Given the description of an element on the screen output the (x, y) to click on. 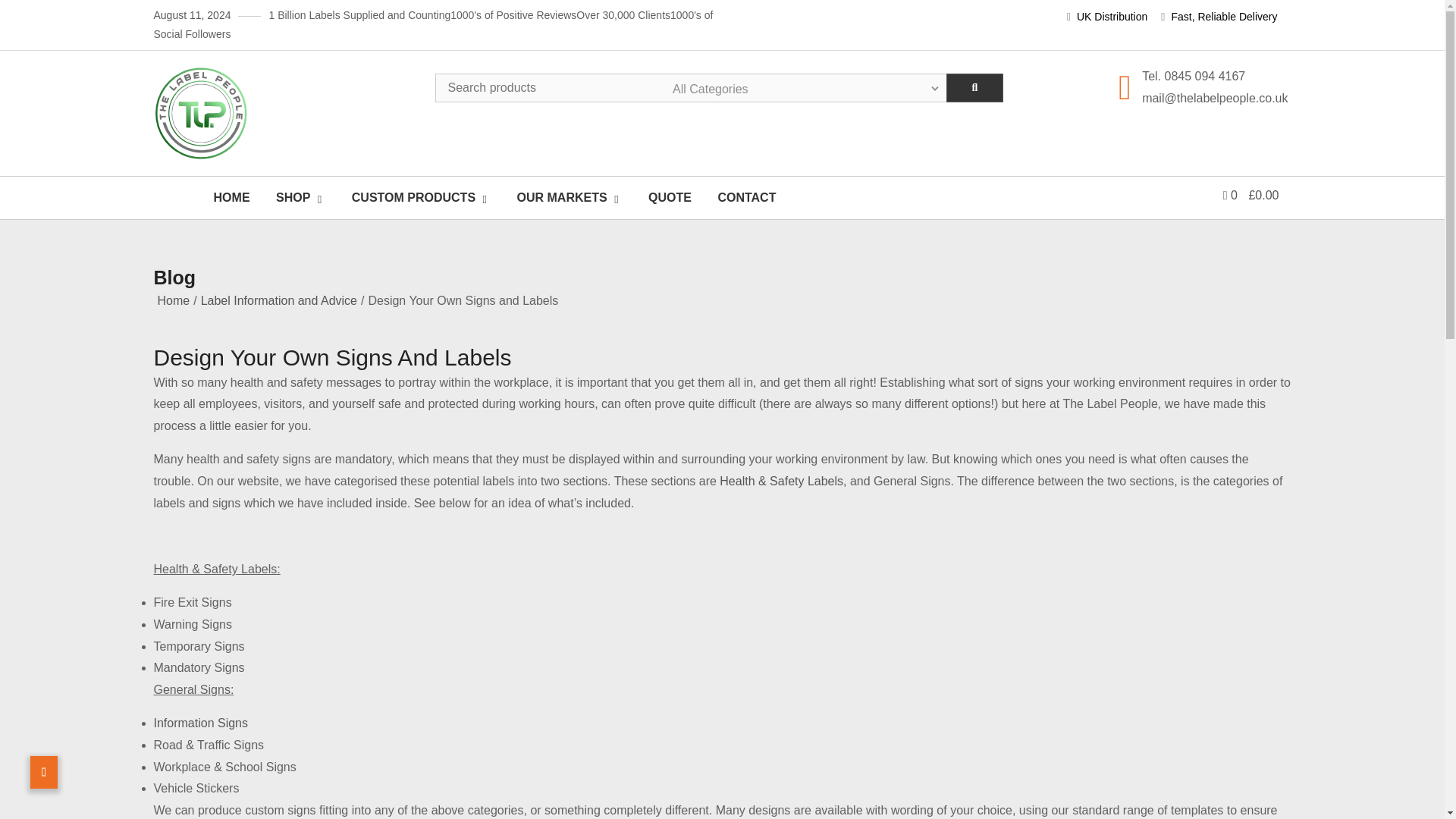
Home (173, 300)
HOME (232, 197)
CUSTOM PRODUCTS (427, 197)
CONTACT (746, 197)
OUR MARKETS (574, 197)
Fast, Reliable Delivery (1218, 16)
SHOP (306, 197)
UK Distribution (1107, 16)
Your number 1 supplier of Labels, Tags and print! (276, 170)
The Label People (283, 181)
